Given the description of an element on the screen output the (x, y) to click on. 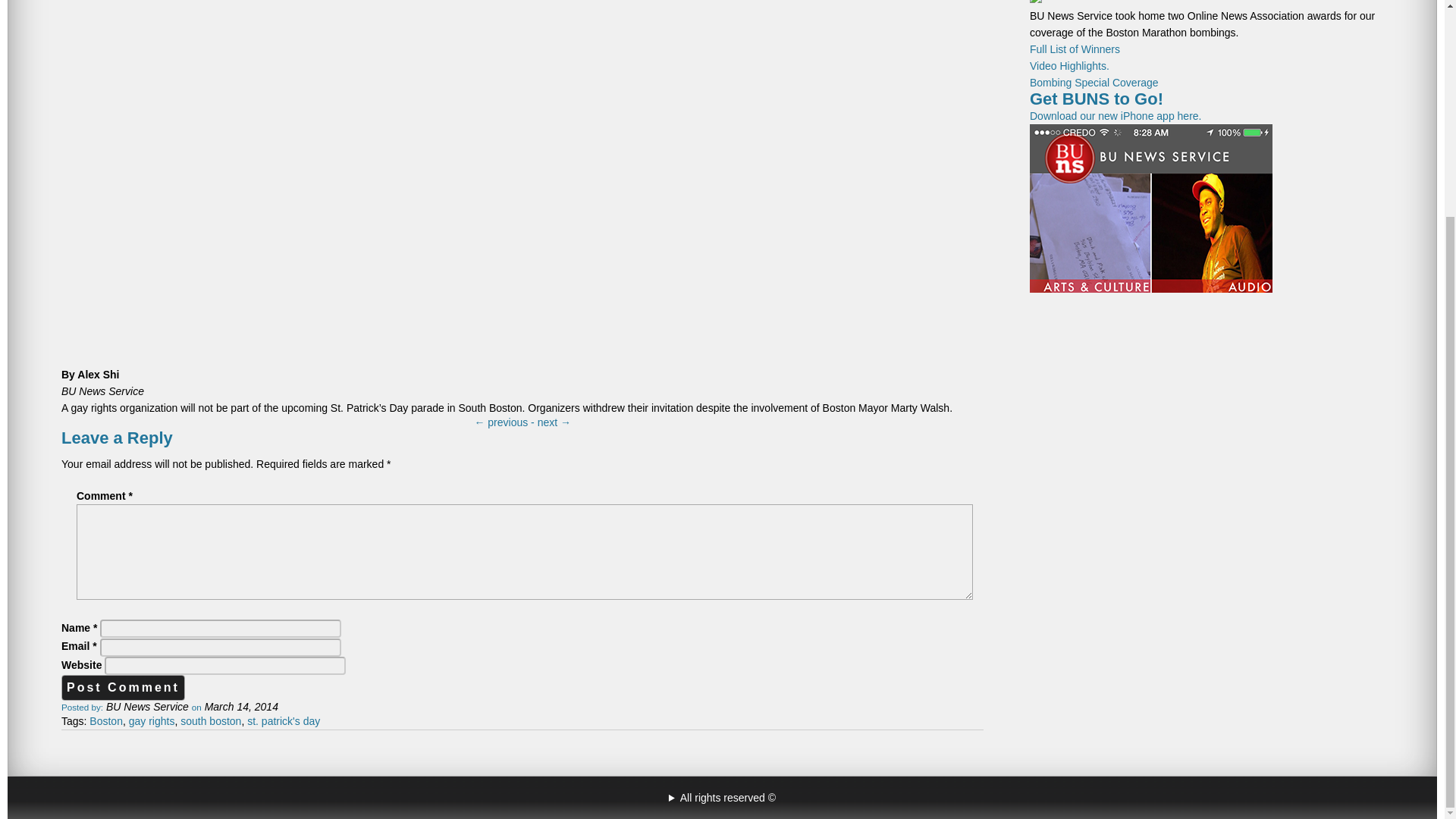
Boston (105, 720)
Bombing Special Coverage (1093, 82)
st. patrick's day (283, 720)
Video Highlights. (1069, 65)
gay rights (151, 720)
south boston (210, 720)
Full List of Winners (1074, 49)
Post Comment (122, 687)
Download our new iPhone app here. (1150, 201)
Post Comment (122, 687)
